Given the description of an element on the screen output the (x, y) to click on. 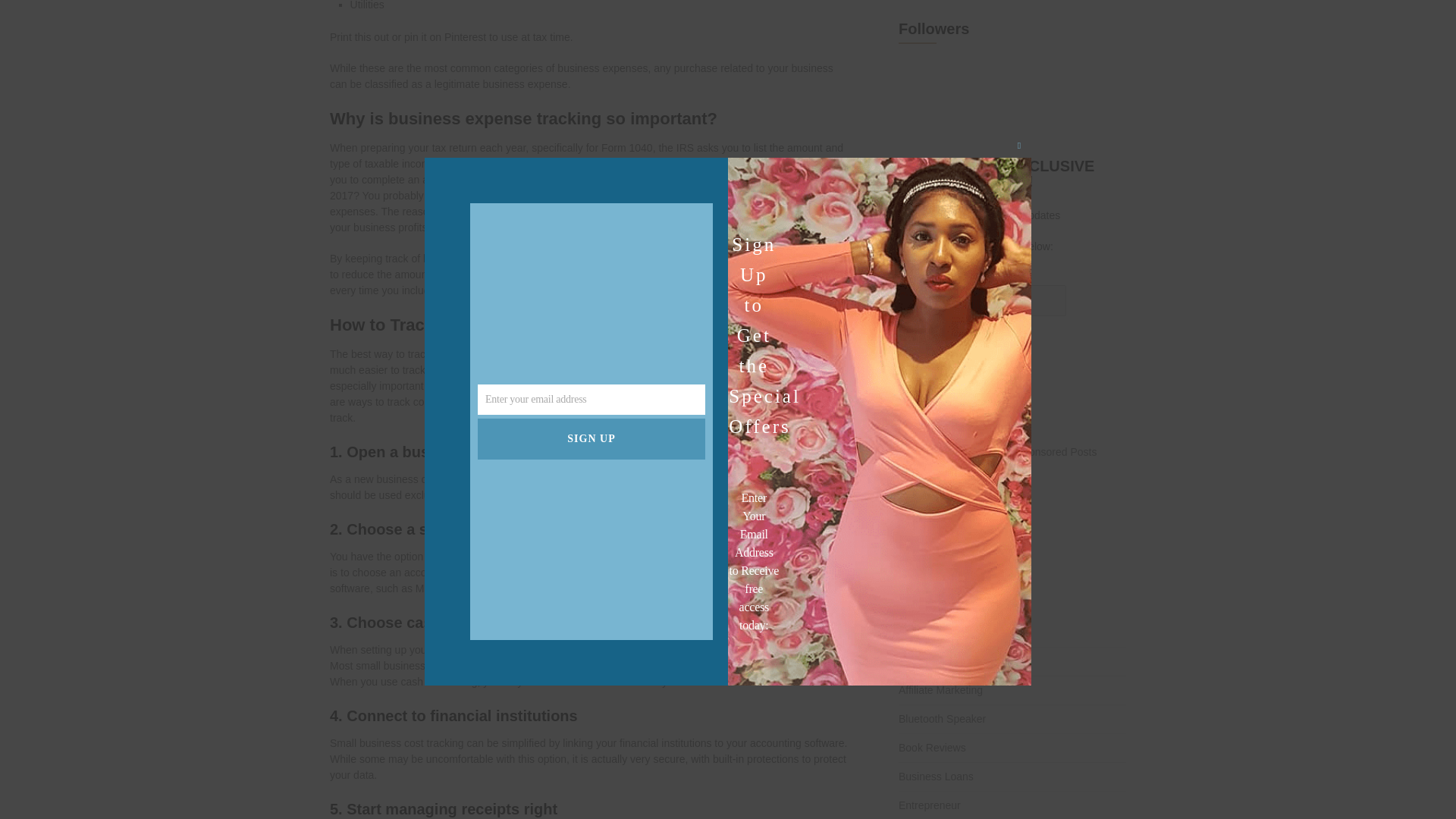
Submit (922, 344)
